Given the description of an element on the screen output the (x, y) to click on. 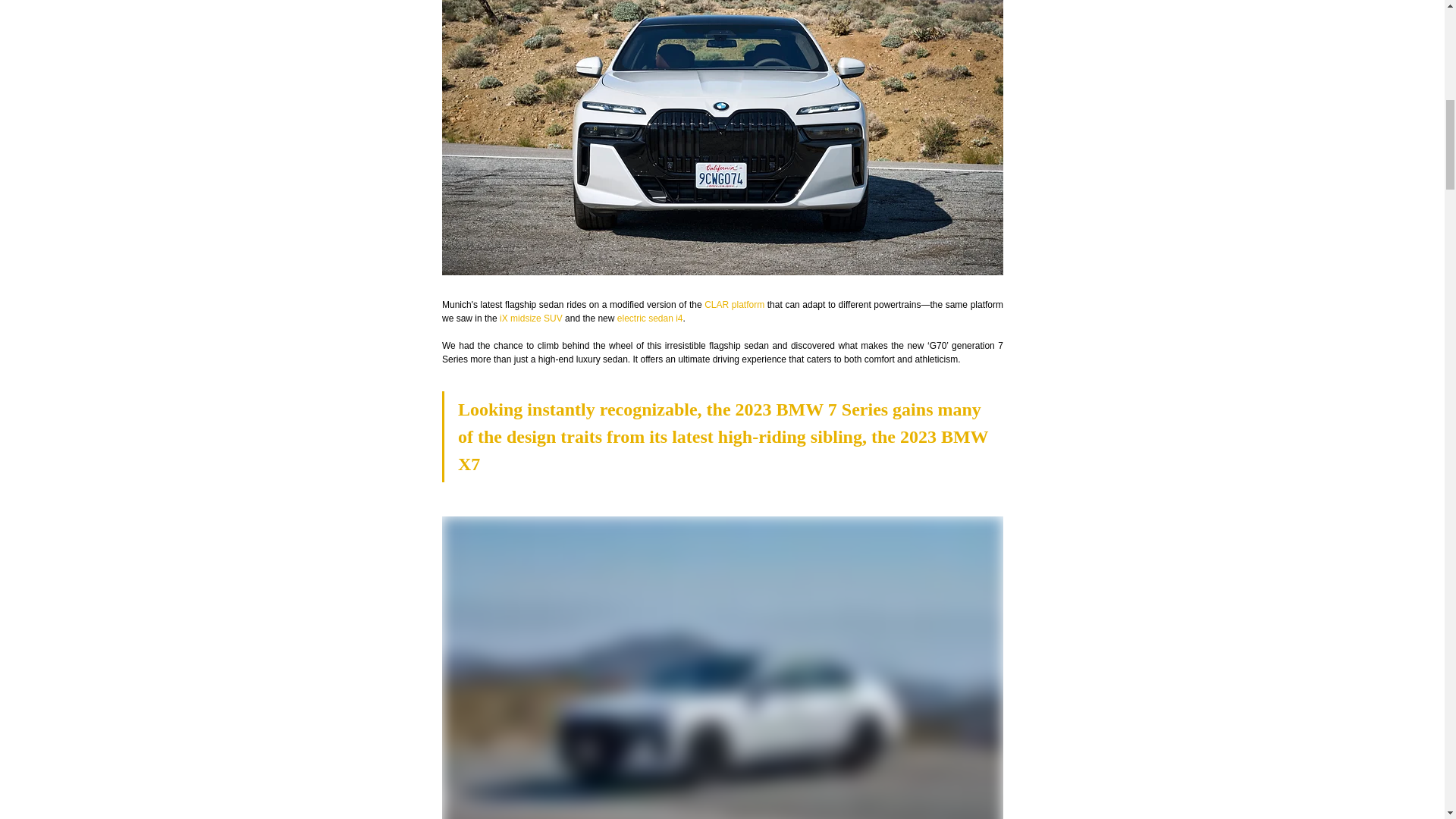
electric sedan i4 (648, 317)
iX midsize SUV (530, 317)
CLAR platform (734, 304)
